Given the description of an element on the screen output the (x, y) to click on. 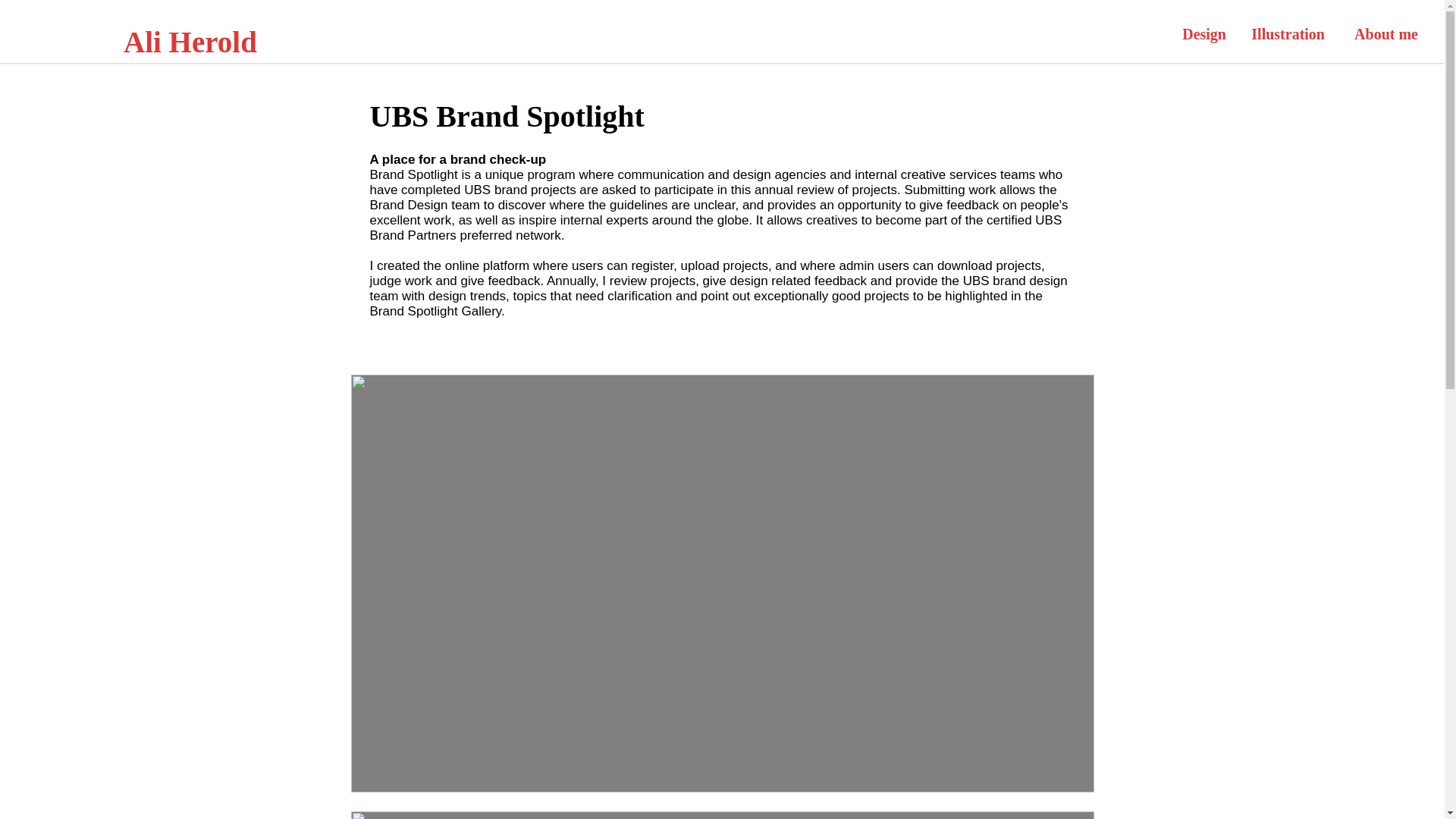
About me (1382, 34)
Illustration (1286, 34)
Design (1200, 34)
Ali Herold (213, 42)
